Given the description of an element on the screen output the (x, y) to click on. 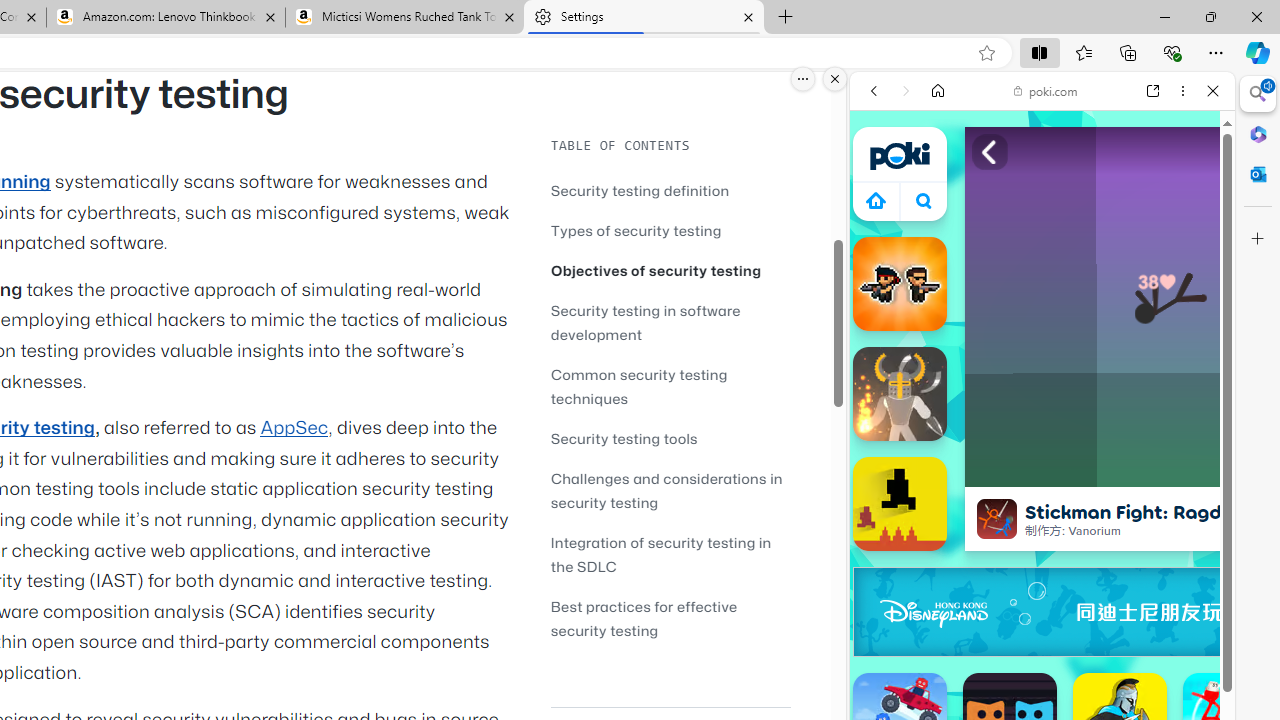
Zombie Rush Zombie Rush (899, 283)
Poki - Free Online Games - Play Now! (1034, 309)
This site scope (936, 180)
Show More Shooting Games (1164, 521)
Web scope (882, 180)
Open link in new tab (1153, 91)
Common security testing techniques (670, 386)
Close split screen. (835, 79)
Challenges and considerations in security testing (670, 489)
Outlook (1258, 174)
Two Player Games (1042, 568)
Security testing tools (670, 438)
More options (1182, 91)
